Given the description of an element on the screen output the (x, y) to click on. 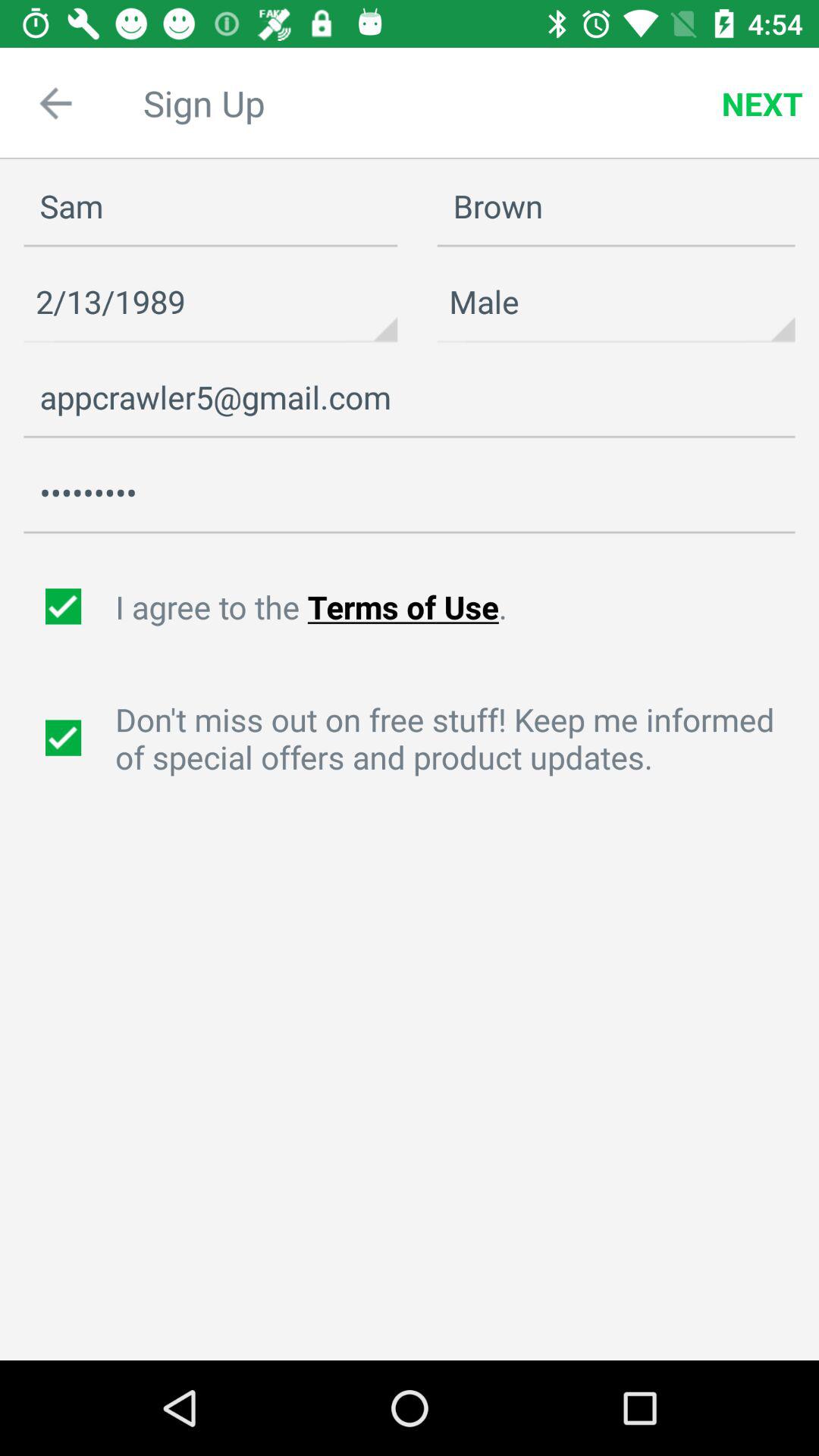
scroll to male item (616, 302)
